Given the description of an element on the screen output the (x, y) to click on. 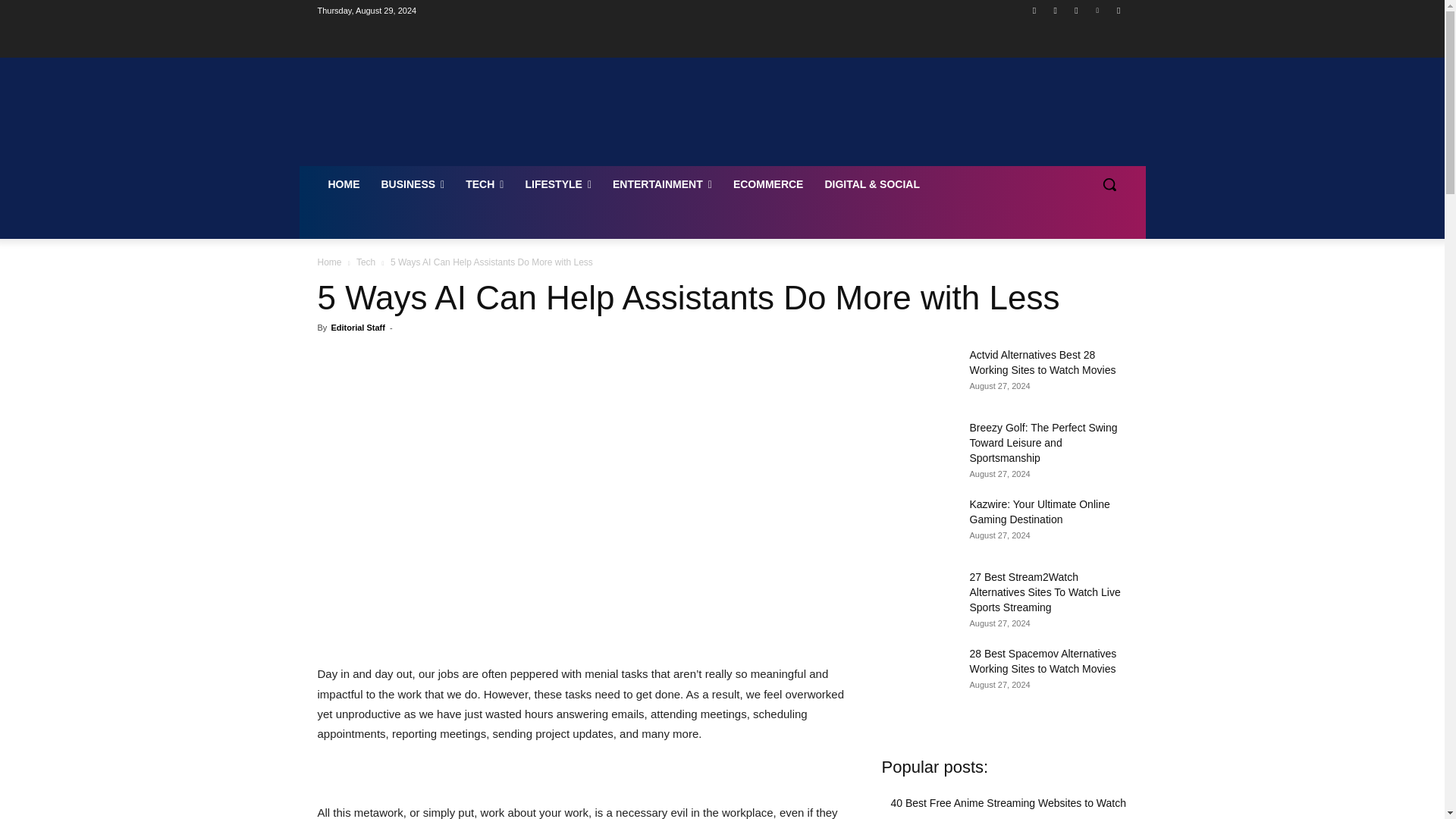
View all posts in Tech (365, 262)
Twitter (1075, 9)
Vimeo (1097, 9)
Youtube (1117, 9)
Facebook (1034, 9)
Instagram (1055, 9)
